Given the description of an element on the screen output the (x, y) to click on. 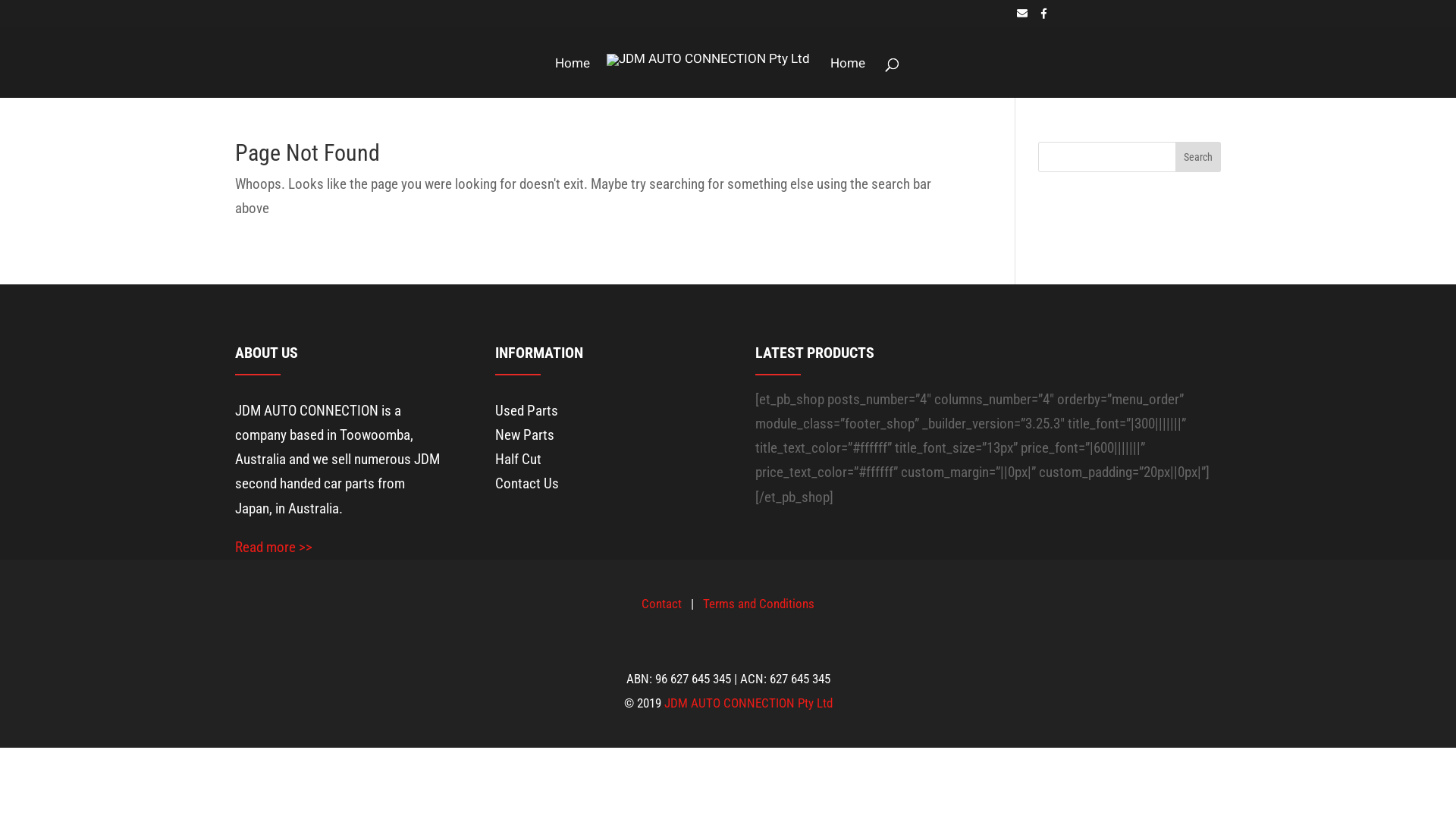
JDM AUTO CONNECTION Pty Ltd Element type: text (748, 702)
Terms and Conditions Element type: text (758, 603)
Search Element type: text (1197, 156)
Home Element type: text (847, 77)
Home Element type: text (572, 77)
Read more >> Element type: text (273, 546)
Contact Us Element type: text (526, 483)
Used Parts Element type: text (526, 410)
New Parts Element type: text (524, 434)
Half Cut Element type: text (518, 458)
Contact Element type: text (661, 603)
